Given the description of an element on the screen output the (x, y) to click on. 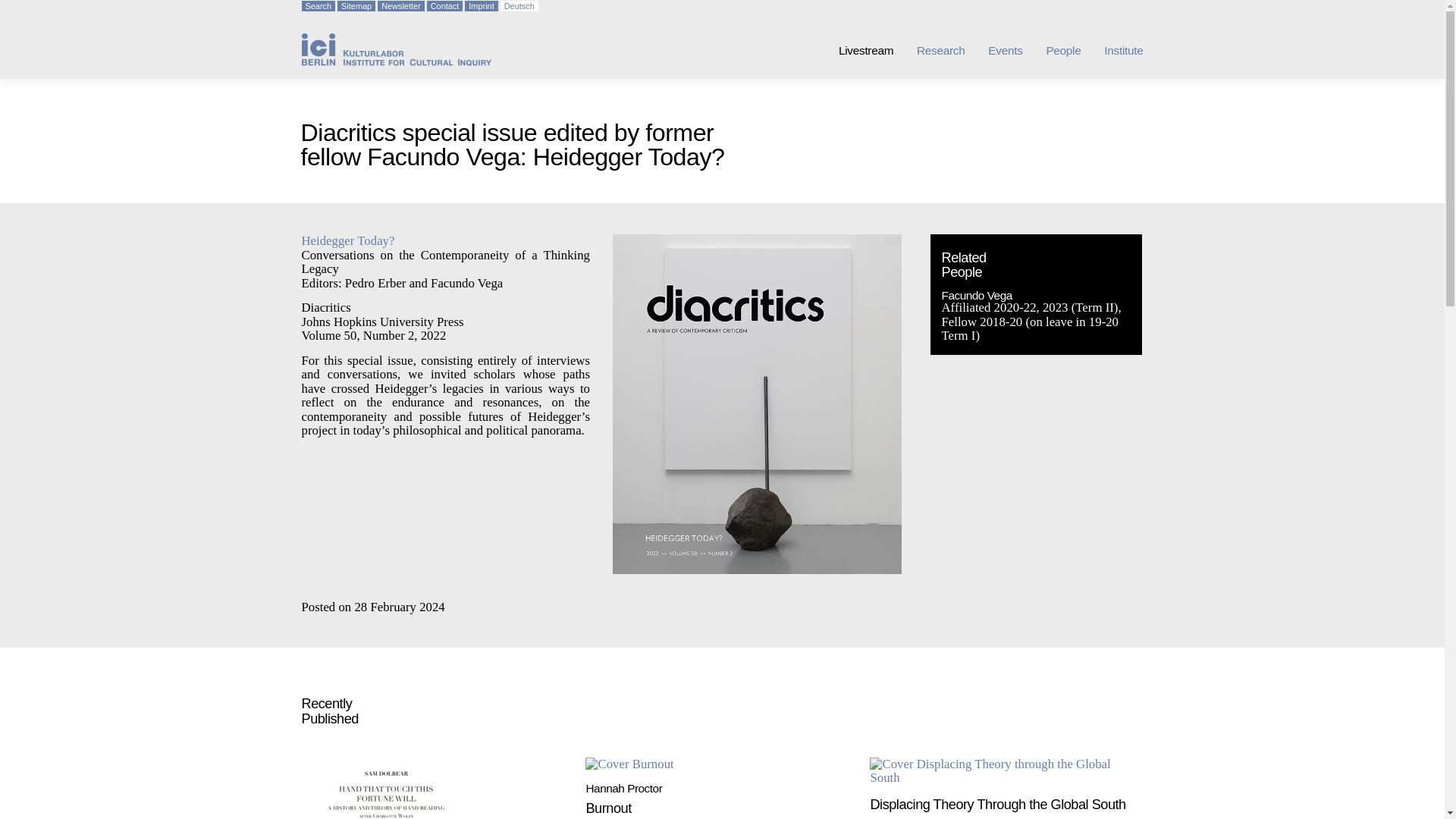
Search (318, 5)
Hand That Touch This Fortune Will (375, 788)
Burnout (607, 807)
Contact (444, 5)
Burnout (628, 764)
People (1052, 50)
Contact (444, 5)
Events (994, 50)
Research (928, 50)
Newsletter (401, 5)
